Given the description of an element on the screen output the (x, y) to click on. 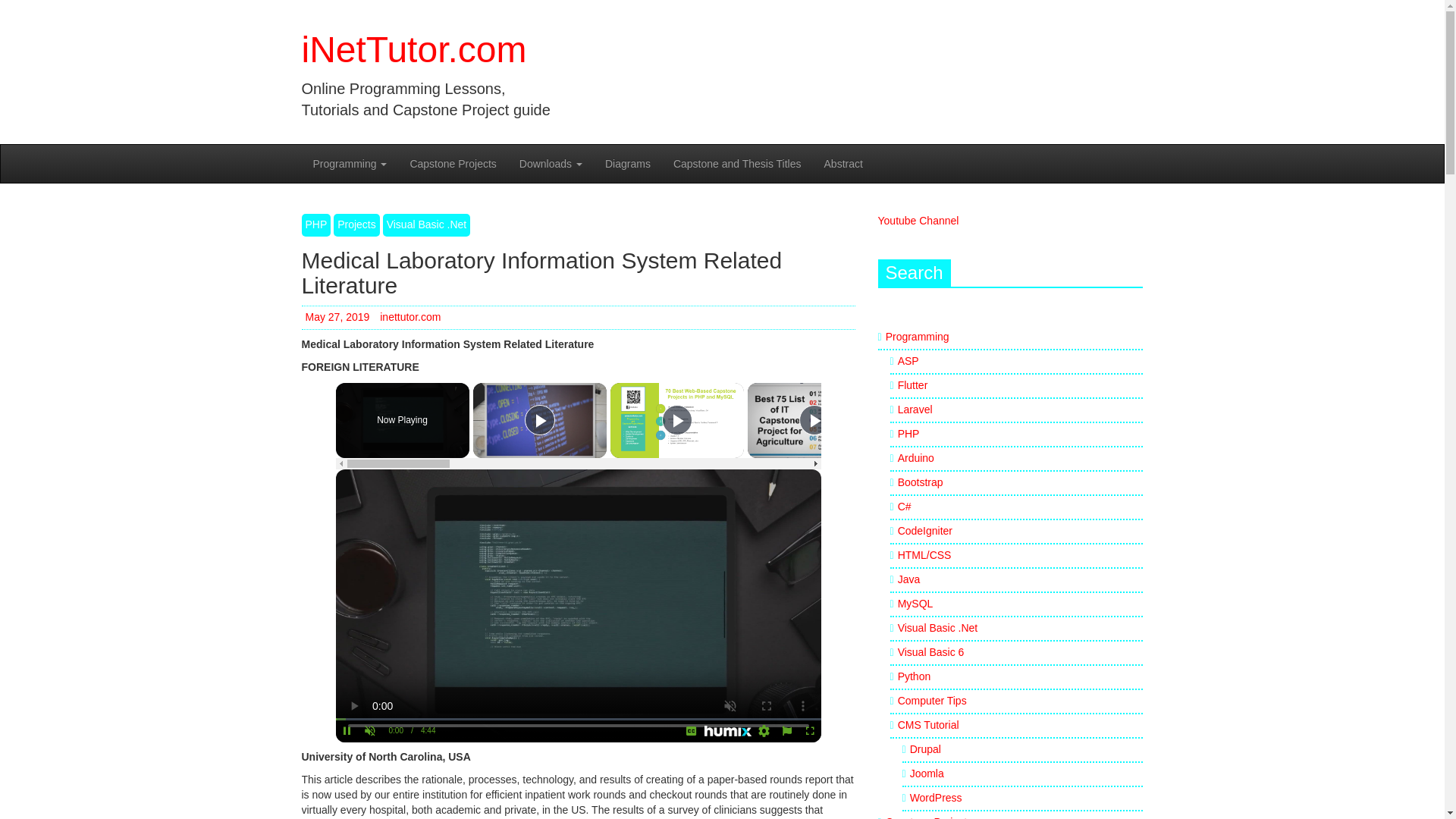
Visual Basic .Net (426, 224)
Downloads (551, 163)
inettutor.com (410, 316)
Downloads (551, 163)
Projects (356, 224)
Capstone and Thesis Titles (737, 163)
Abstract (843, 163)
iNetTutor.com (414, 49)
May 27, 2019 (336, 316)
Programming (349, 163)
Programming (349, 163)
Capstone Projects (451, 163)
Diagrams (628, 163)
Capstone Projects (451, 163)
PHP (316, 224)
